Given the description of an element on the screen output the (x, y) to click on. 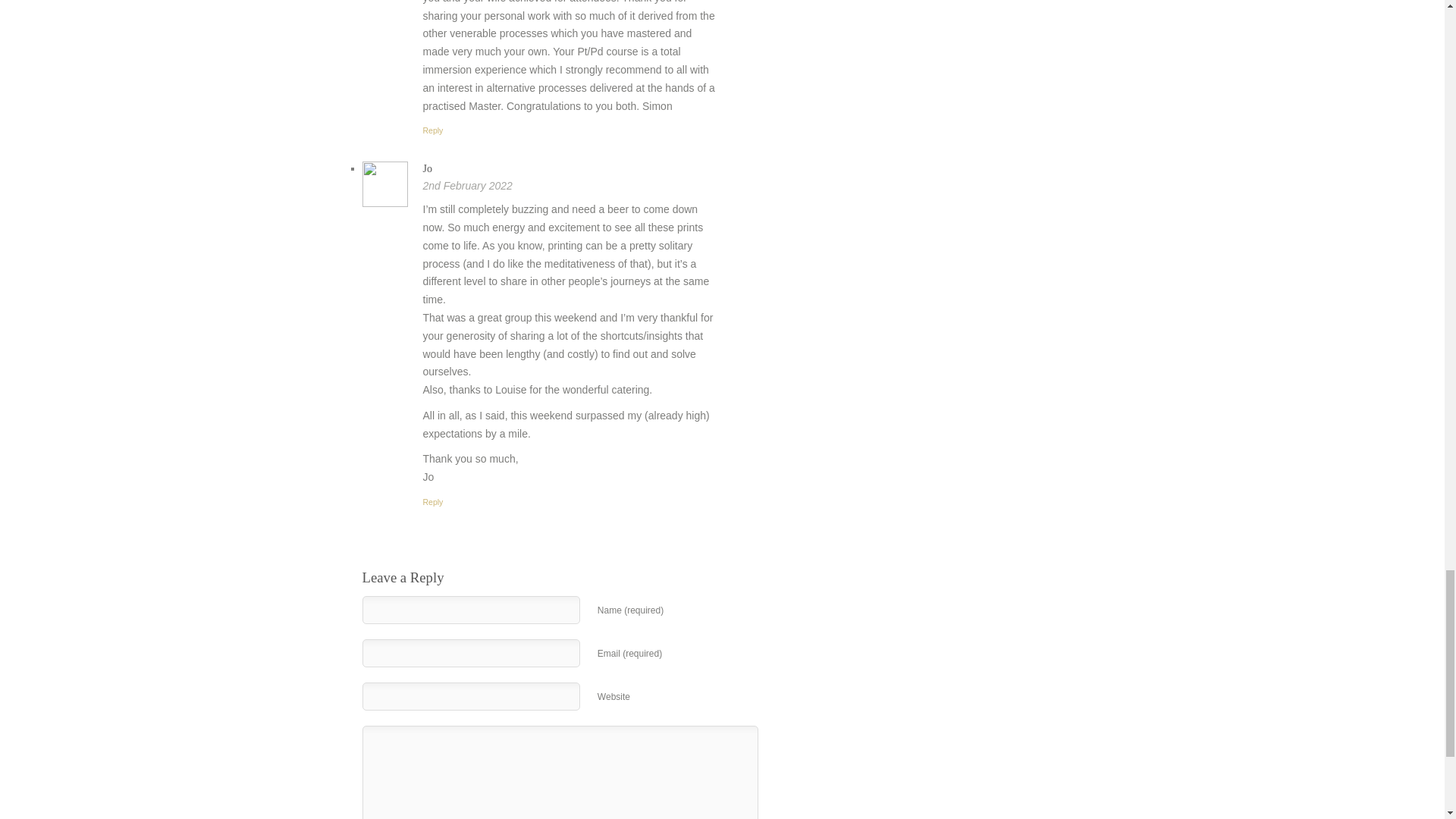
Reply (433, 501)
Reply (433, 130)
